Given the description of an element on the screen output the (x, y) to click on. 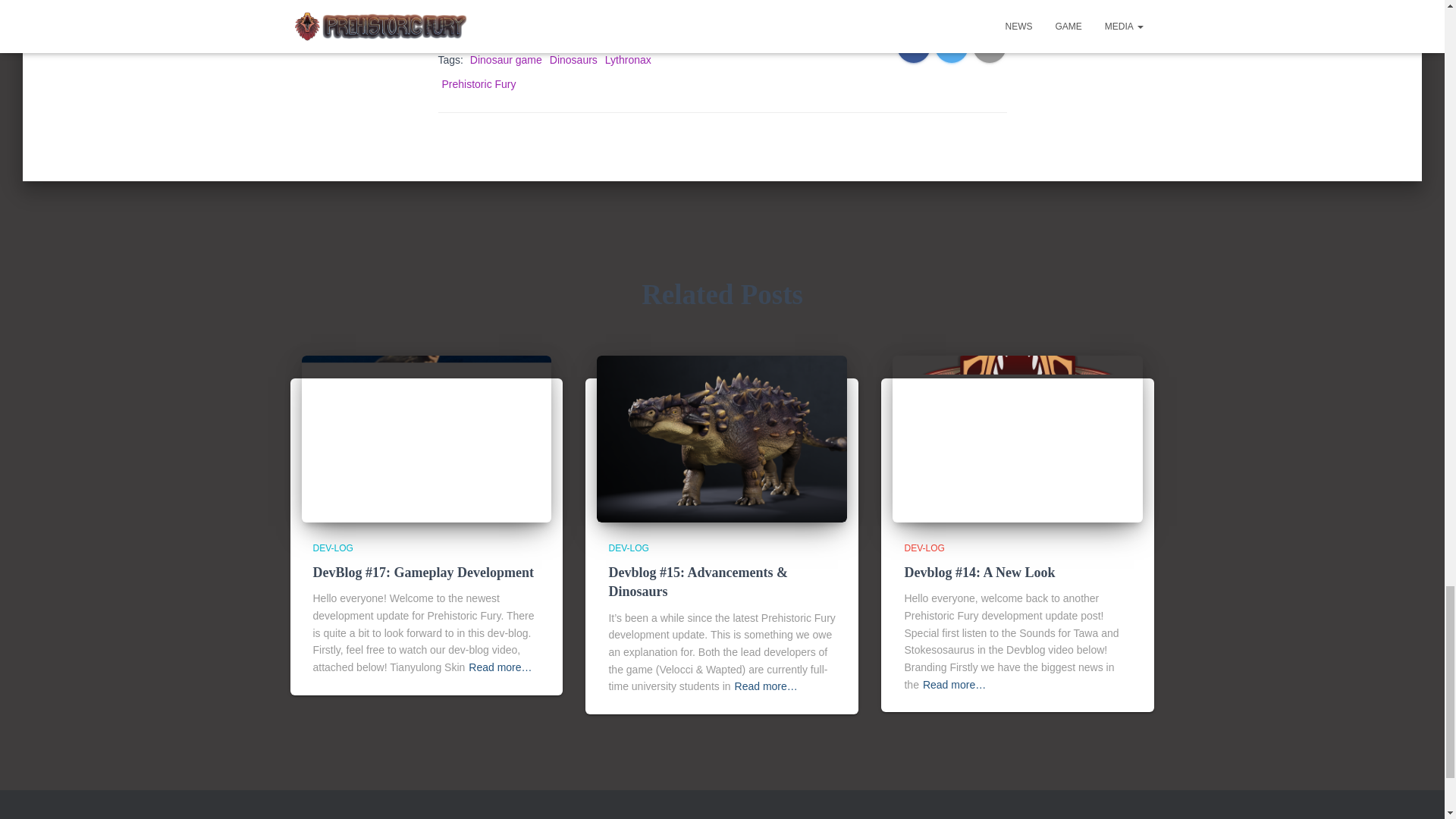
Prehistoric Fury (478, 83)
HOME (416, 816)
NEWS (522, 816)
MEDIA (469, 816)
DEV-LOG (627, 547)
DEV-LOG (332, 547)
View all posts in Dev-log (332, 547)
GAME ARTWORK (338, 816)
Dinosaur game (505, 60)
THE GAME (586, 816)
